Given the description of an element on the screen output the (x, y) to click on. 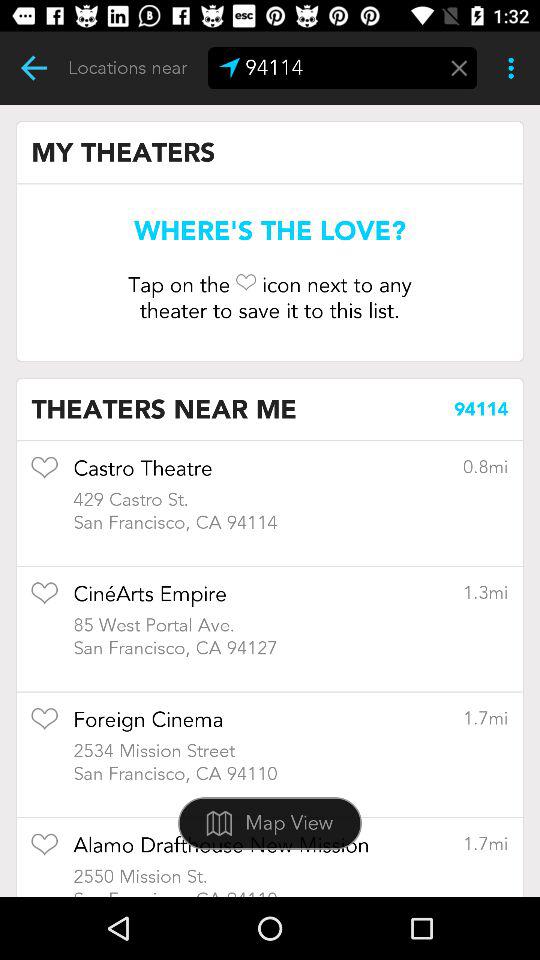
erase text (459, 68)
